Given the description of an element on the screen output the (x, y) to click on. 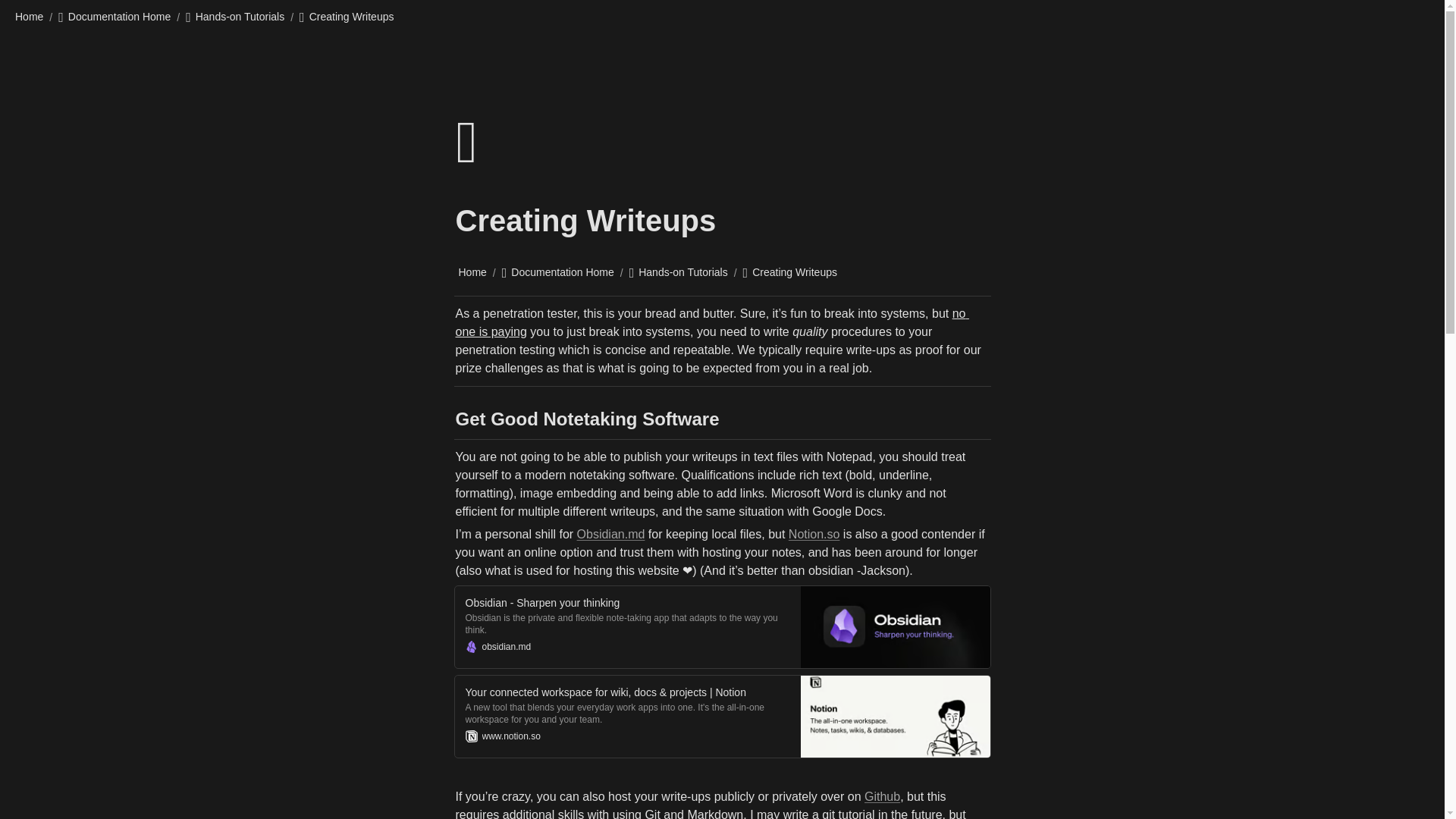
Notion.so (814, 533)
Home (471, 272)
Obsidian.md (610, 533)
Home (29, 16)
Github (881, 796)
